Given the description of an element on the screen output the (x, y) to click on. 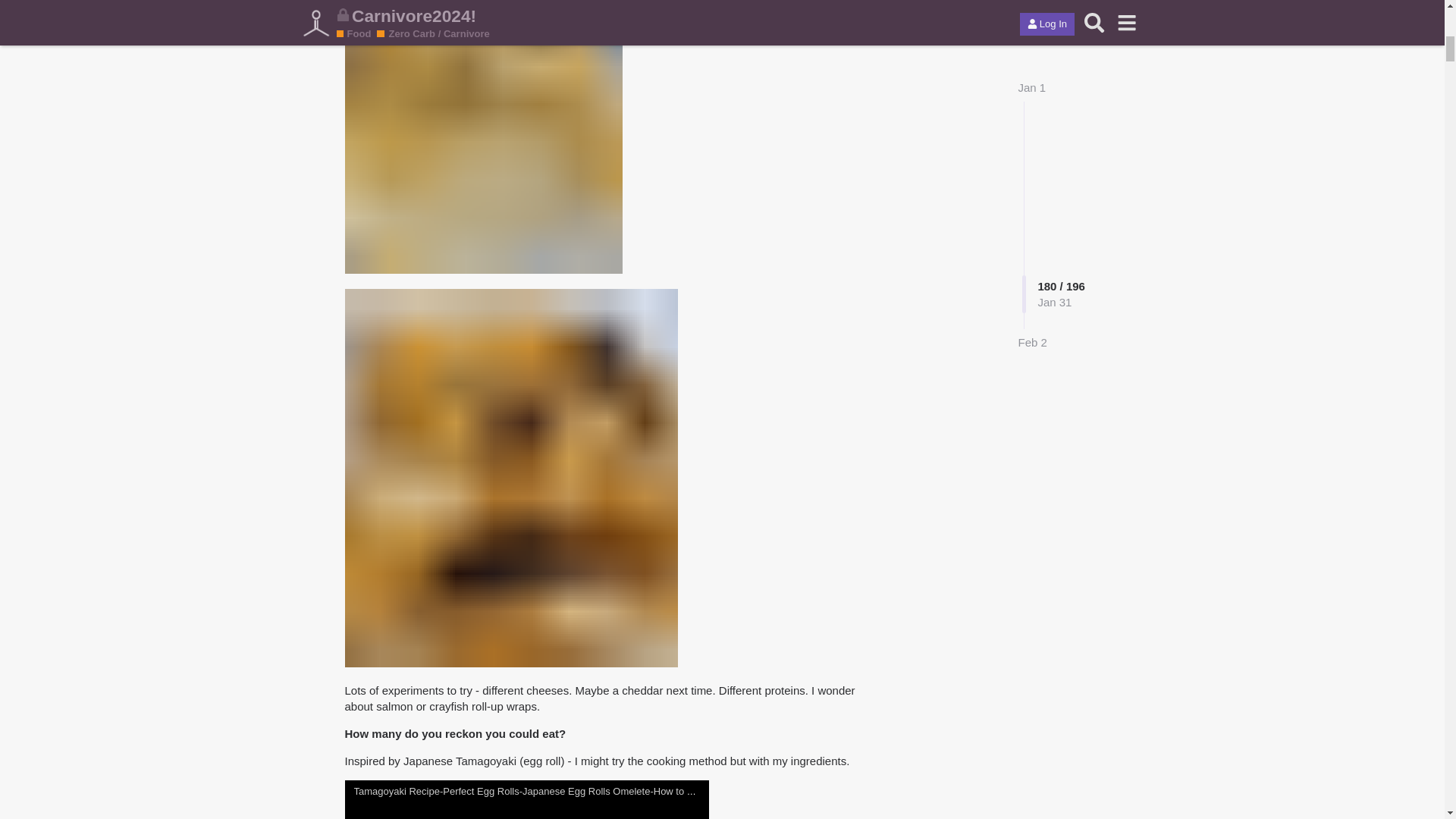
image.jpg (482, 136)
